Given the description of an element on the screen output the (x, y) to click on. 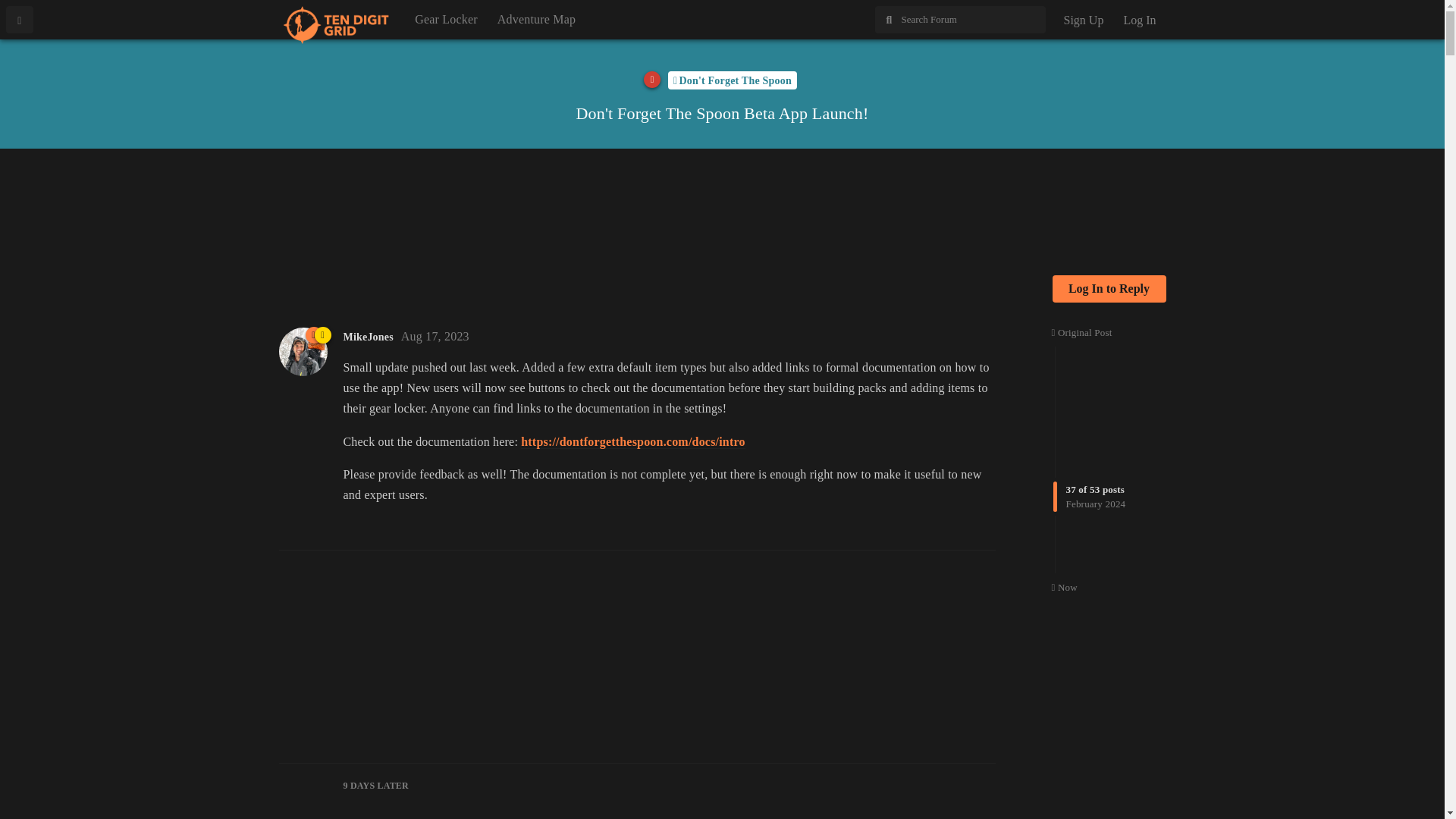
Adventure Map (536, 19)
Aug 17, 2023 (434, 336)
Don't Forget The Spoon (732, 80)
Thursday, August 17, 2023 9:20 AM (434, 336)
Log In to Reply (1109, 288)
Original Post (1081, 332)
Now (1064, 586)
MikeJones (367, 337)
Log In (1139, 19)
Sign Up (1082, 19)
